Given the description of an element on the screen output the (x, y) to click on. 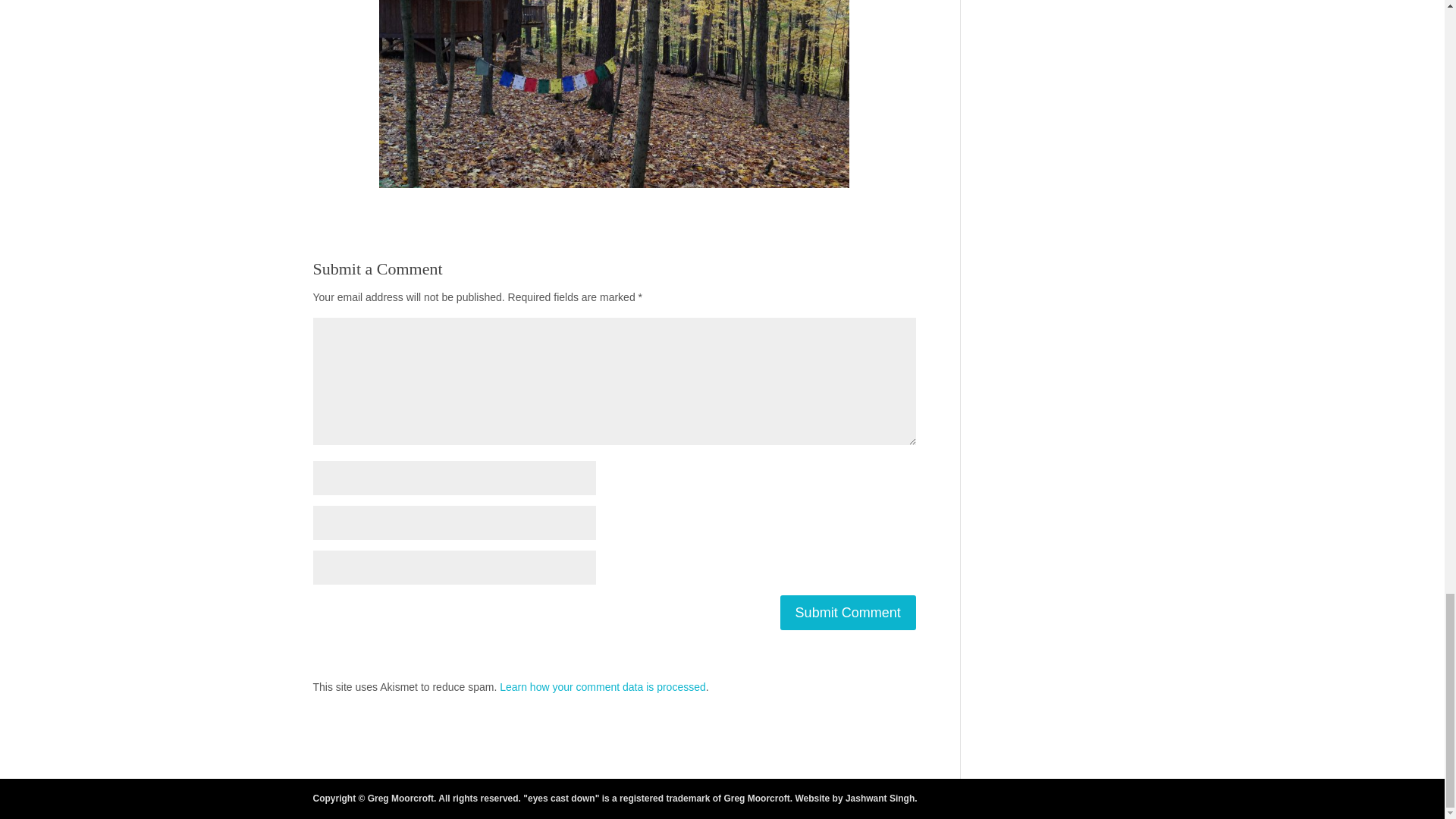
Submit Comment (847, 612)
Yurt in Woods with flags (613, 94)
Learn how your comment data is processed (602, 686)
Submit Comment (847, 612)
